Given the description of an element on the screen output the (x, y) to click on. 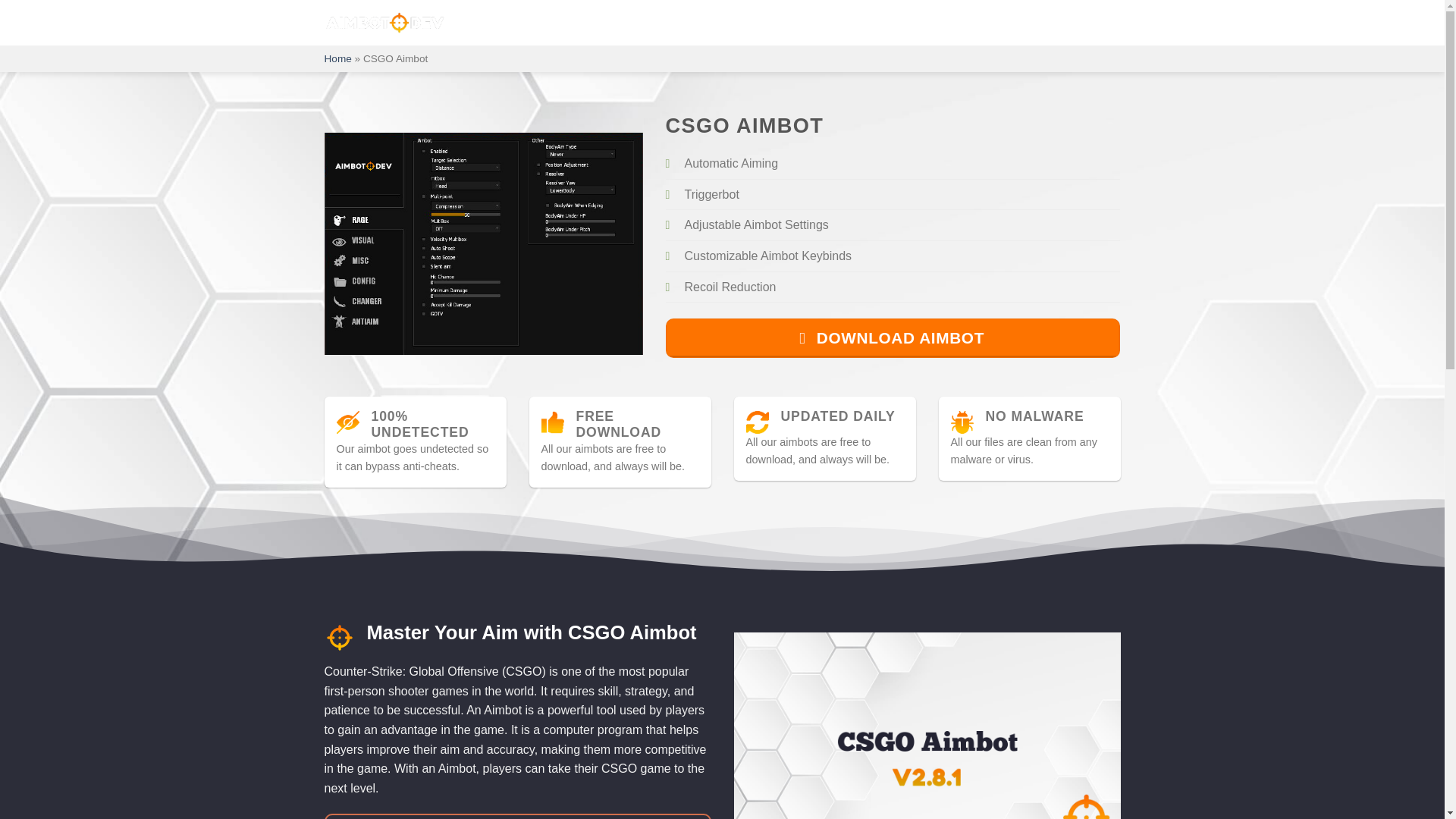
Home (338, 58)
CSGO Aimbot (756, 421)
AIMBOTS (521, 22)
CSGO Aimbot (962, 421)
CSGO Aimbot (347, 421)
DOWNLOAD AIMBOT (893, 337)
CSGO Aimbot (339, 635)
CSGO Aimbot (483, 242)
CSGO Aimbot (552, 421)
